Given the description of an element on the screen output the (x, y) to click on. 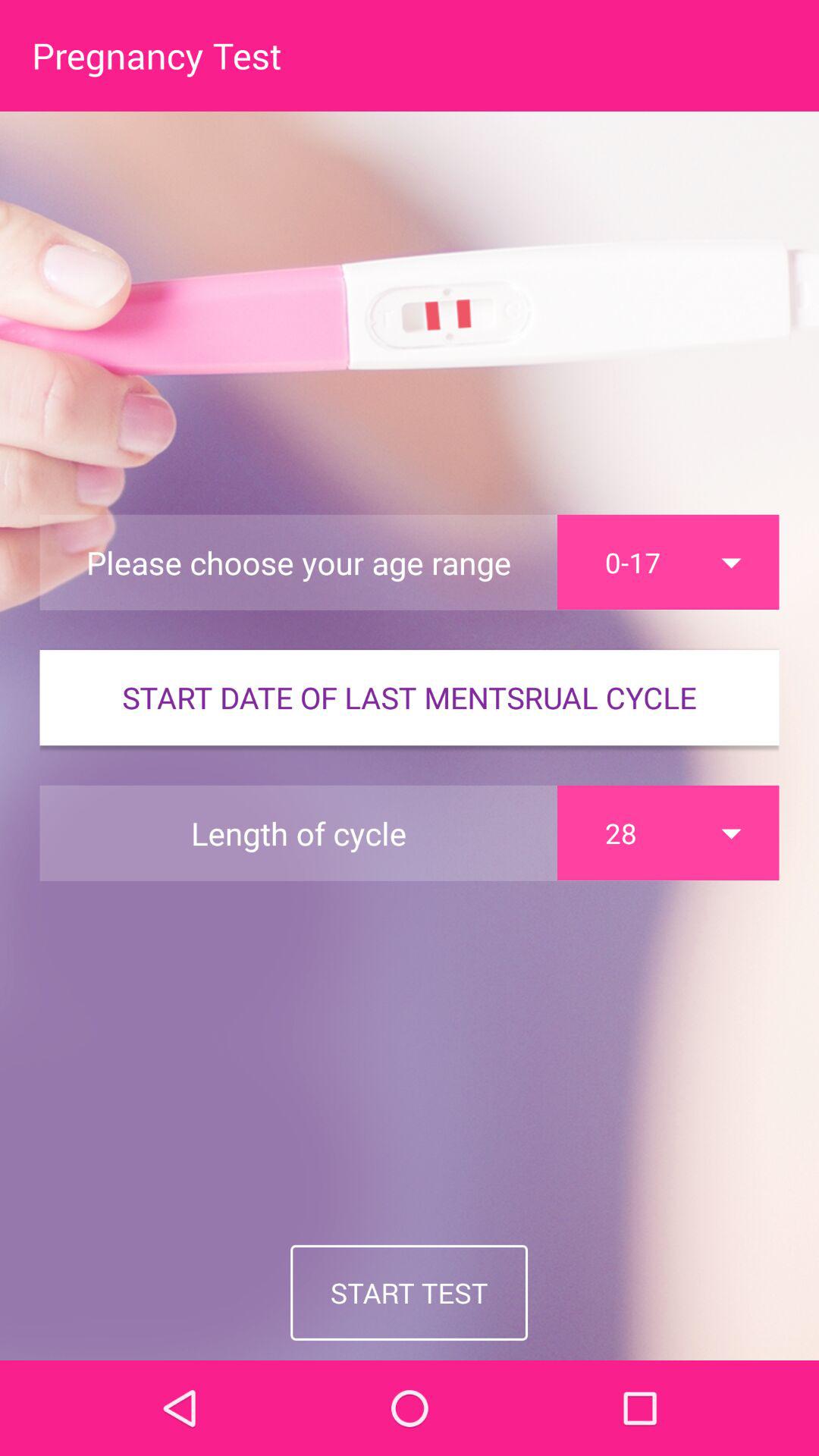
turn on 28 (668, 832)
